Given the description of an element on the screen output the (x, y) to click on. 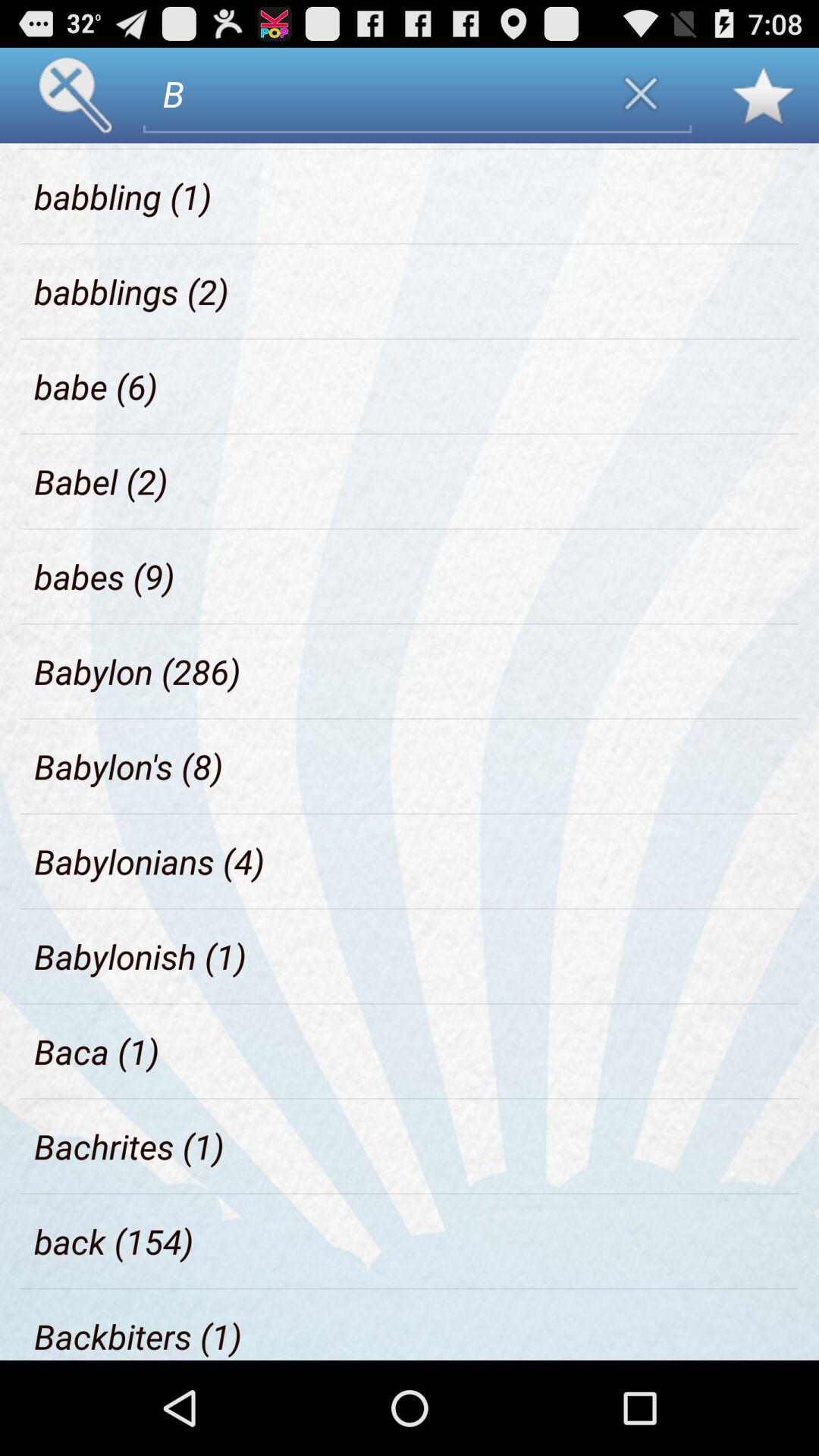
turn on the babbling (1) item (123, 196)
